Given the description of an element on the screen output the (x, y) to click on. 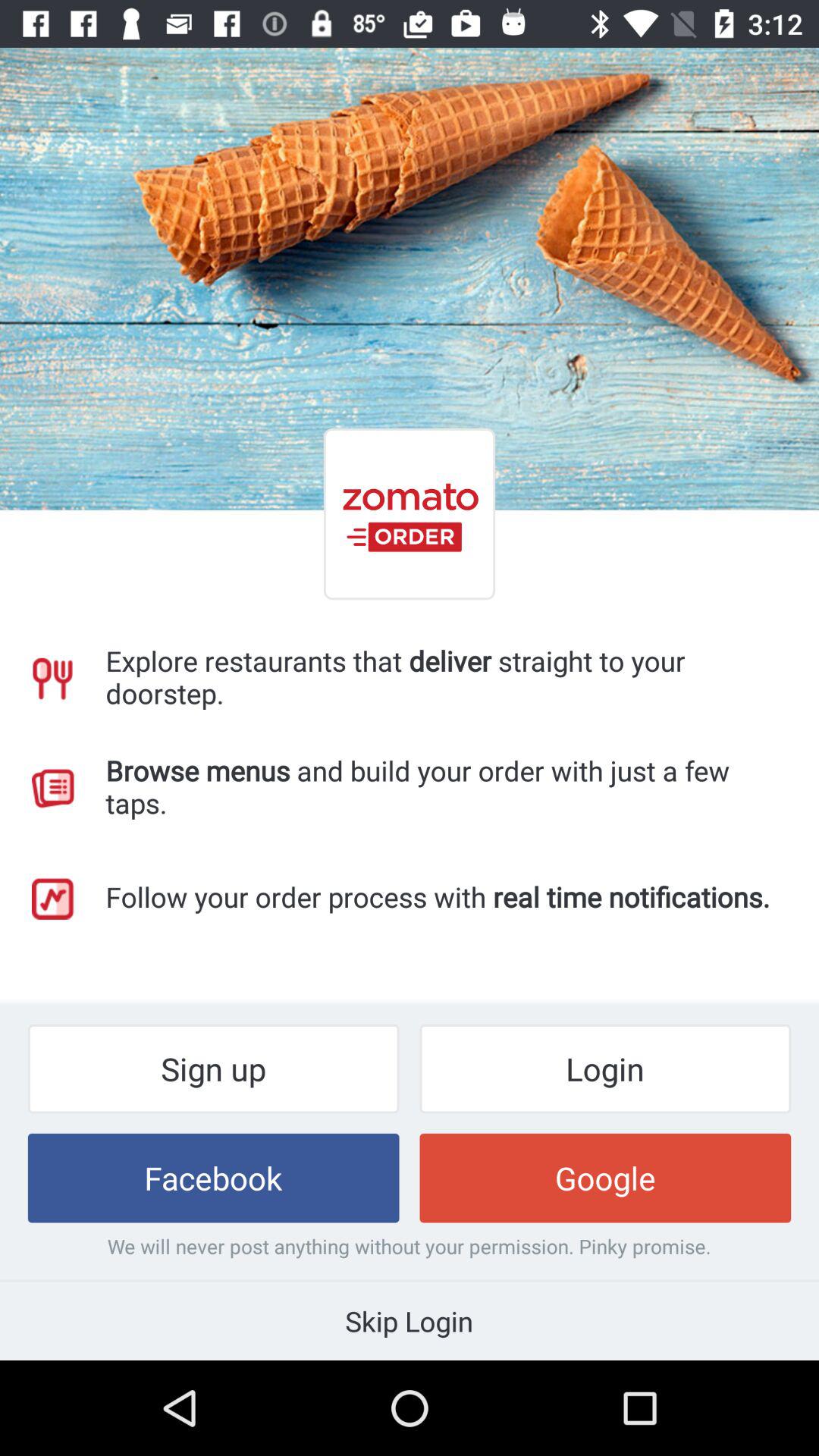
turn off the item next to google icon (213, 1177)
